Given the description of an element on the screen output the (x, y) to click on. 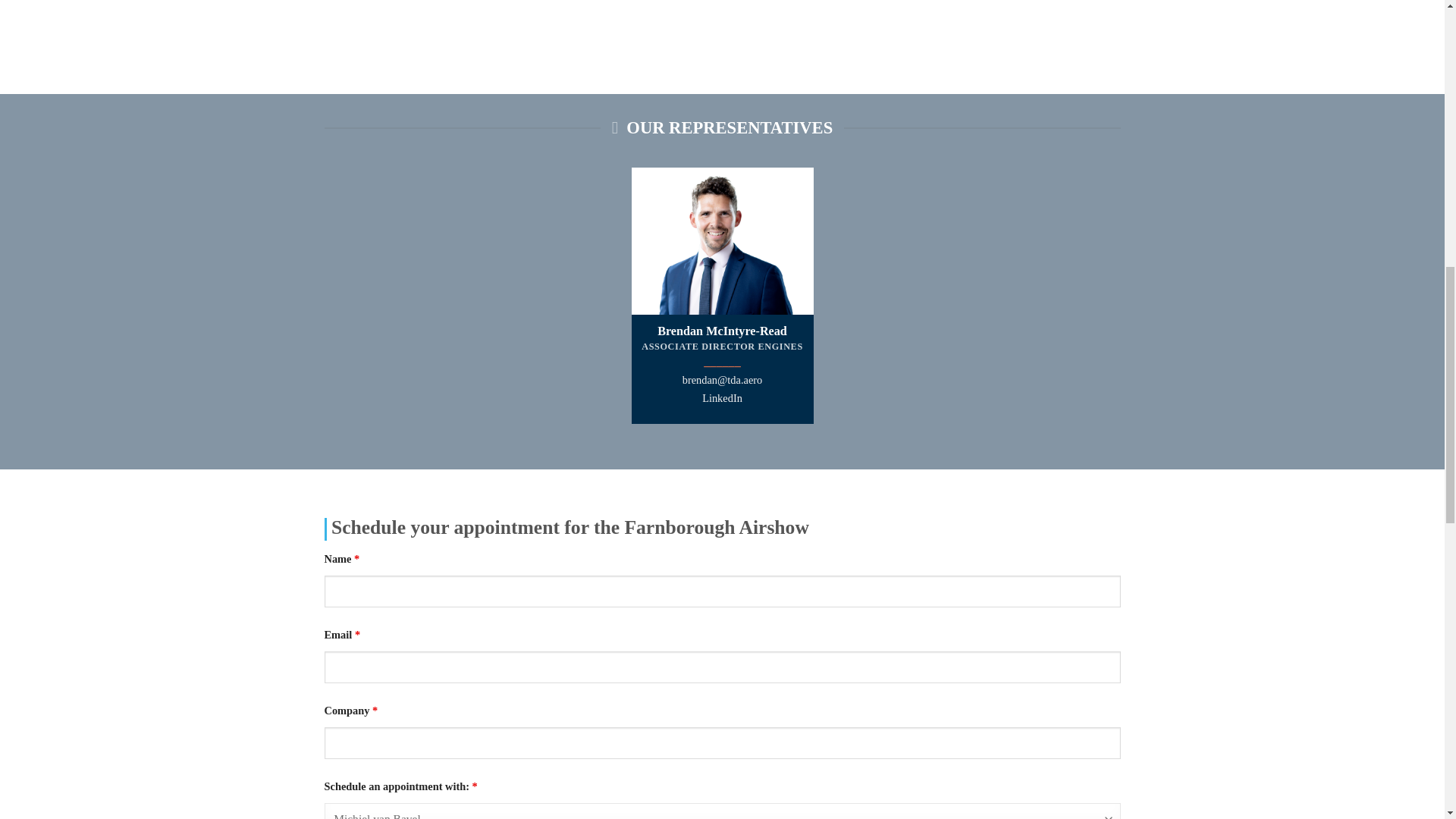
LinkedIn (721, 398)
